Given the description of an element on the screen output the (x, y) to click on. 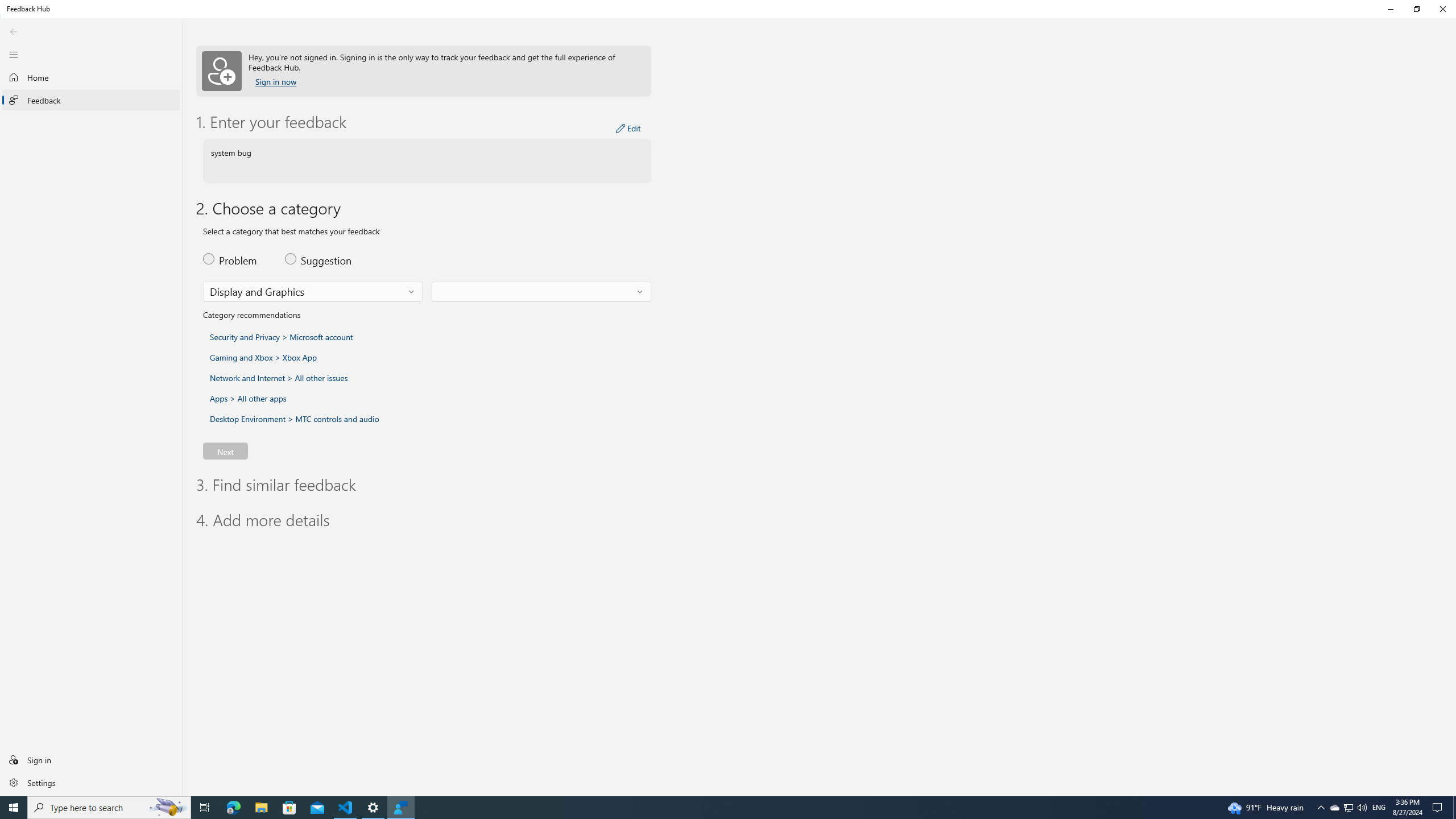
Feedback type, Problem (236, 258)
Running applications (706, 807)
Minimize Feedback Hub (1390, 9)
Select this category and subcategory: Apps > All other apps (248, 398)
Vertical Small Increase (1452, 792)
Sign in (90, 759)
Sign in now (276, 81)
